Given the description of an element on the screen output the (x, y) to click on. 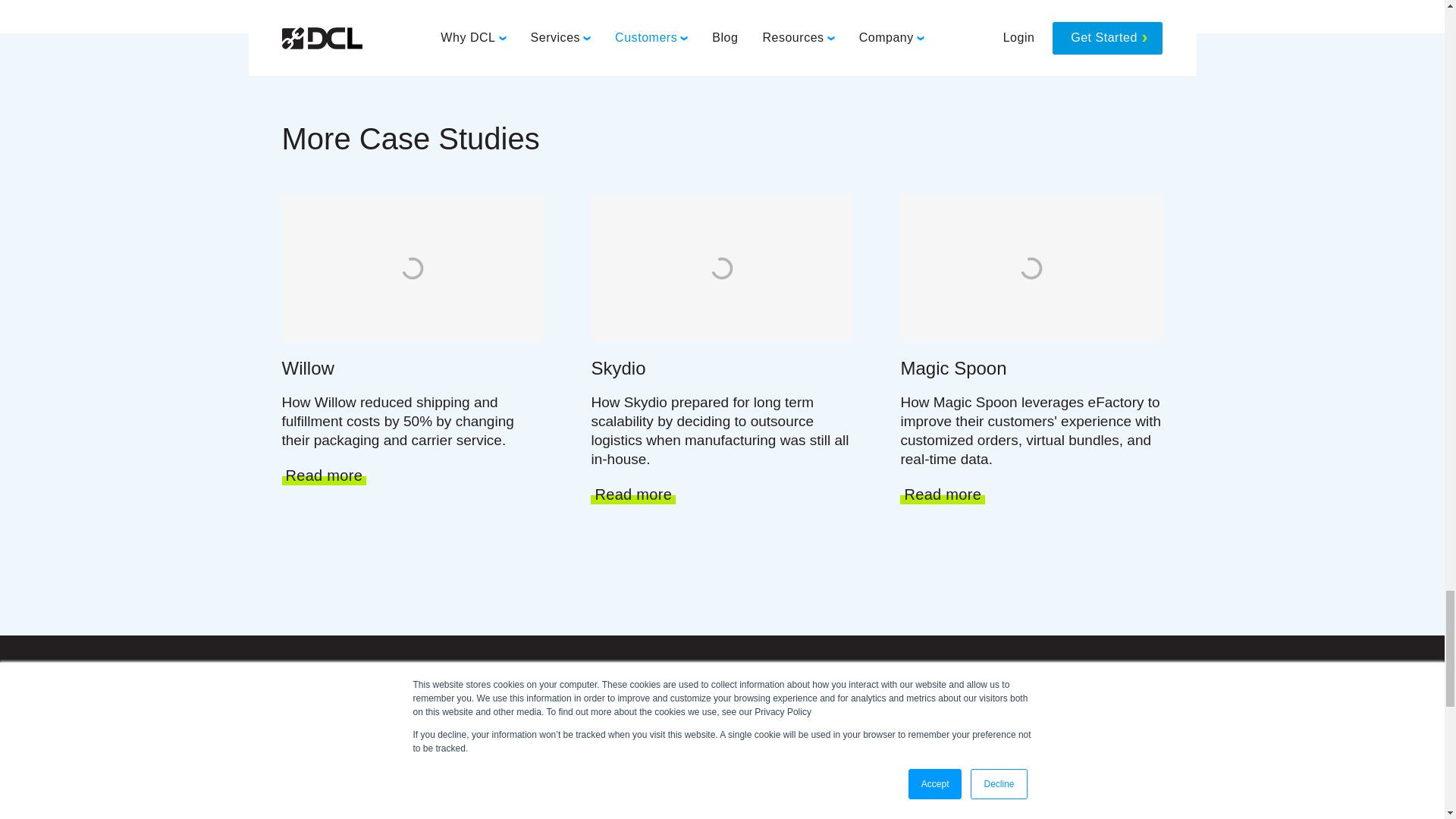
Willow (413, 368)
Magic Spoon (1030, 368)
Read more (633, 495)
Read more (324, 476)
Read more (942, 495)
Skydio (722, 368)
